Given the description of an element on the screen output the (x, y) to click on. 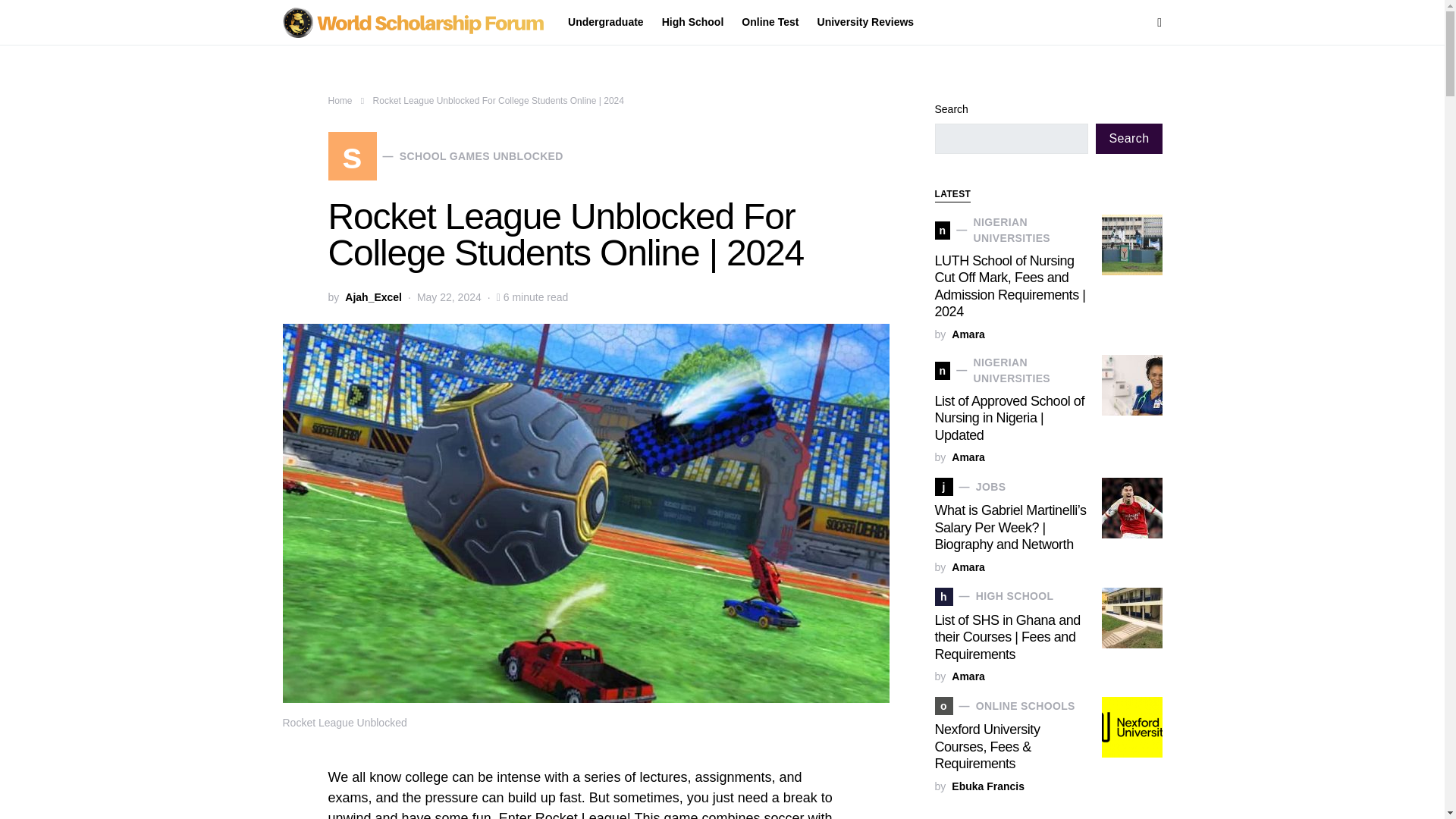
University Reviews (861, 22)
Home (339, 100)
High School (692, 22)
View all posts by Amara (968, 458)
View all posts by Amara (968, 567)
View all posts by Ebuka Francis (988, 786)
Online Test (444, 155)
View all posts by Amara (770, 22)
Undergraduate (968, 676)
